Given the description of an element on the screen output the (x, y) to click on. 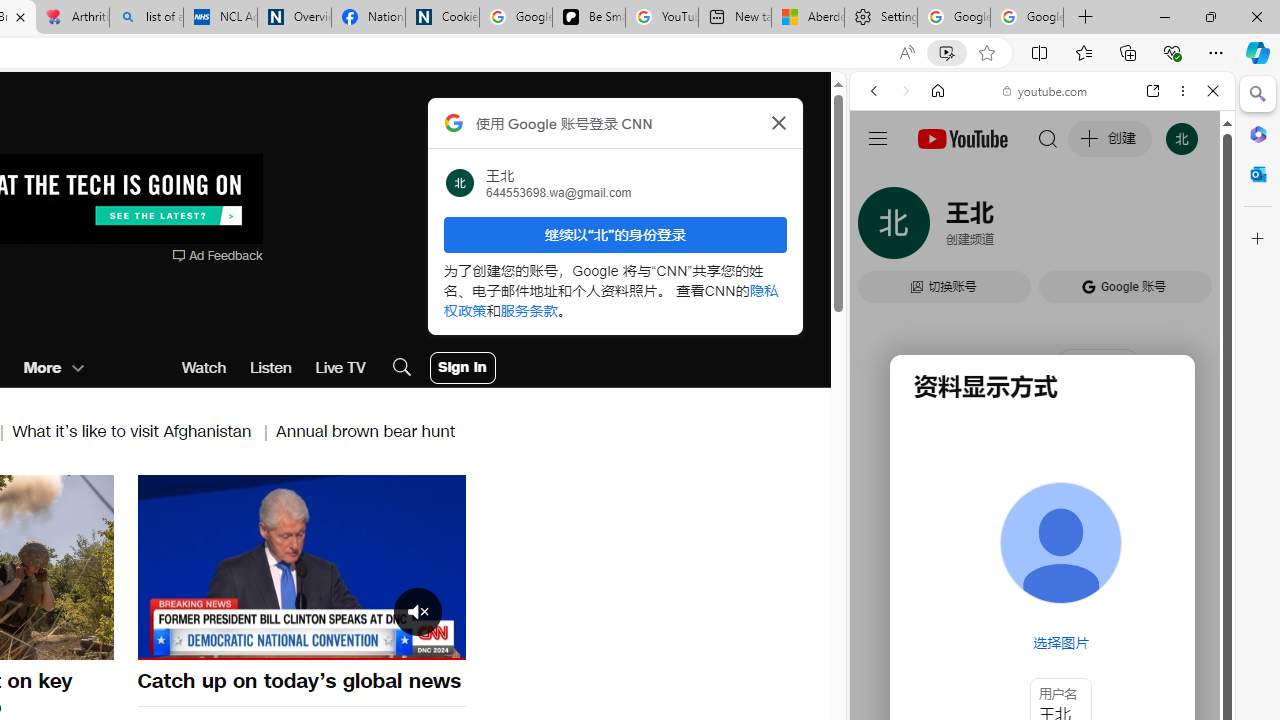
Search videos from youtube.com (1005, 657)
